Given the description of an element on the screen output the (x, y) to click on. 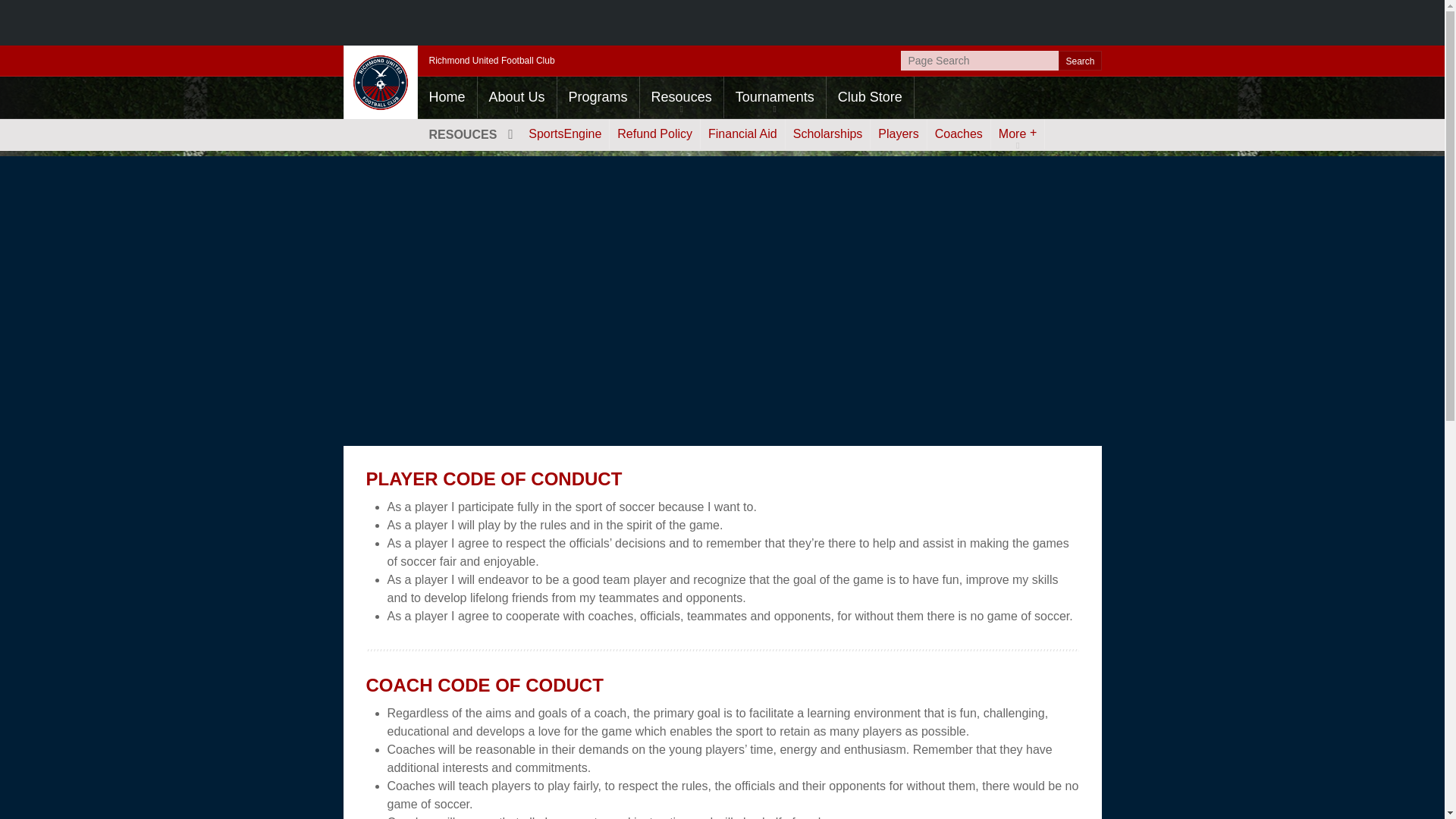
click to go to 'About Us' (516, 96)
Resouces (681, 96)
Coaches (958, 133)
click to go to 'Home' (446, 96)
SportsEngine (564, 133)
Financial Aid (742, 133)
click to go to 'Players' (898, 133)
click to go to 'Refund Policy' (655, 133)
Refund Policy (655, 133)
Players (898, 133)
Tournaments (774, 96)
click to go to 'Financial Aid' (742, 133)
RESOUCES (468, 133)
click to go to 'SportsEngine' (564, 133)
Home (446, 96)
